Given the description of an element on the screen output the (x, y) to click on. 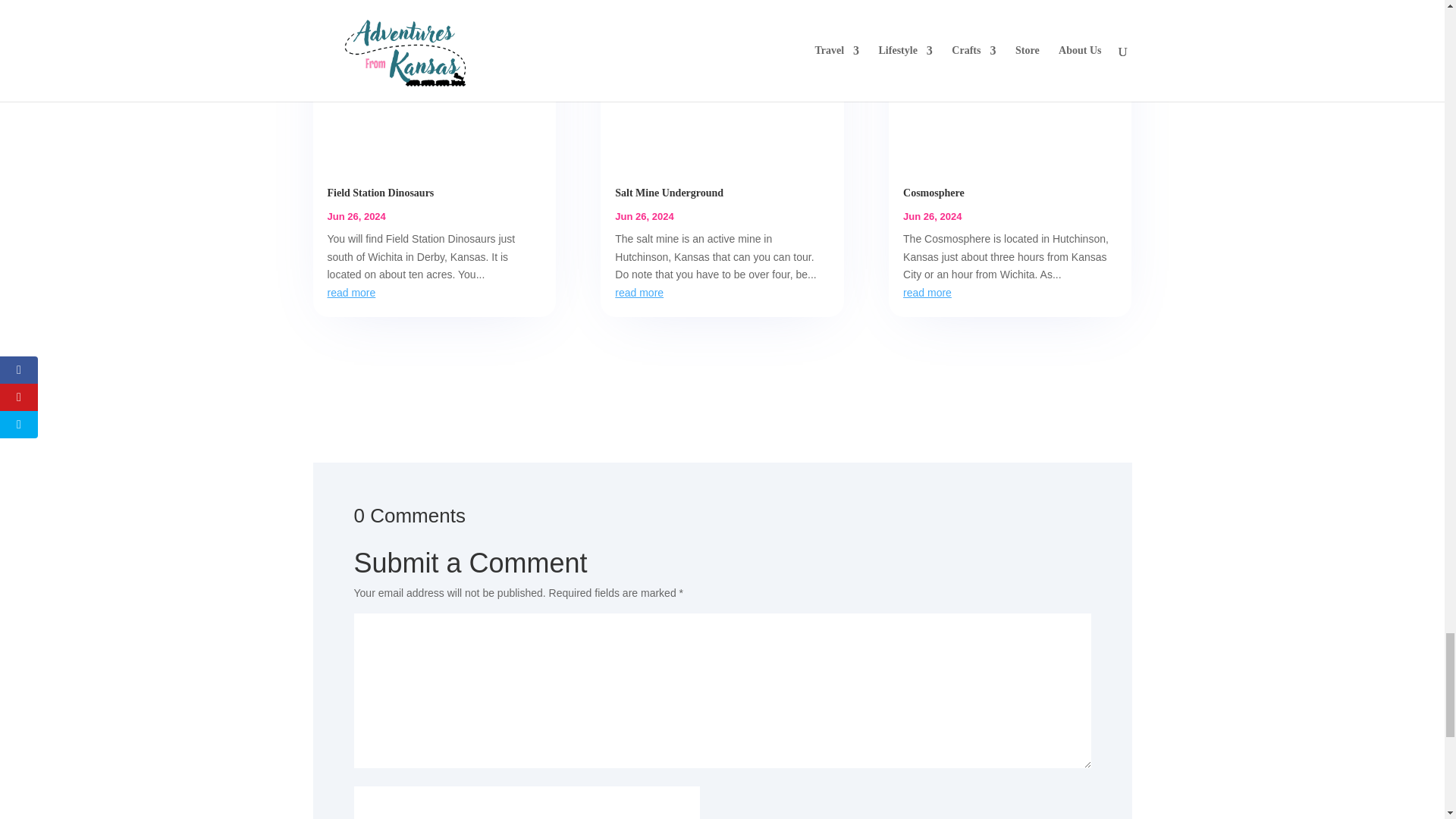
read more (351, 292)
Field Station Dinosaurs (380, 193)
